Given the description of an element on the screen output the (x, y) to click on. 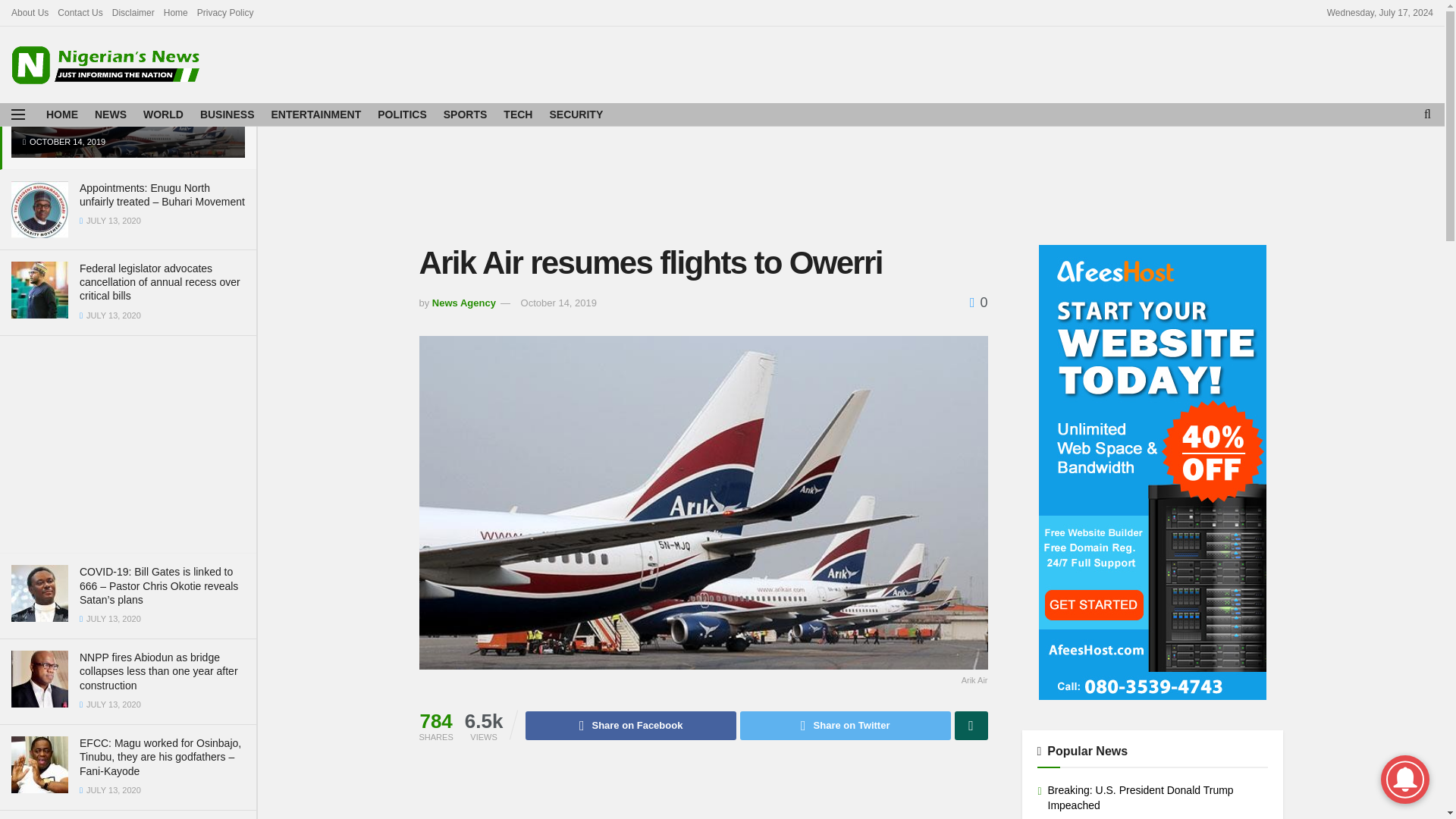
Privacy Policy (224, 12)
ENTERTAINMENT (315, 114)
WORLD (162, 114)
Contact Us (79, 12)
About Us (29, 12)
Home (175, 12)
NEWS (110, 114)
HOME (62, 114)
Arik Air resumes flights to Owerri (111, 120)
Disclaimer (133, 12)
BUSINESS (227, 114)
POLITICS (401, 114)
